Given the description of an element on the screen output the (x, y) to click on. 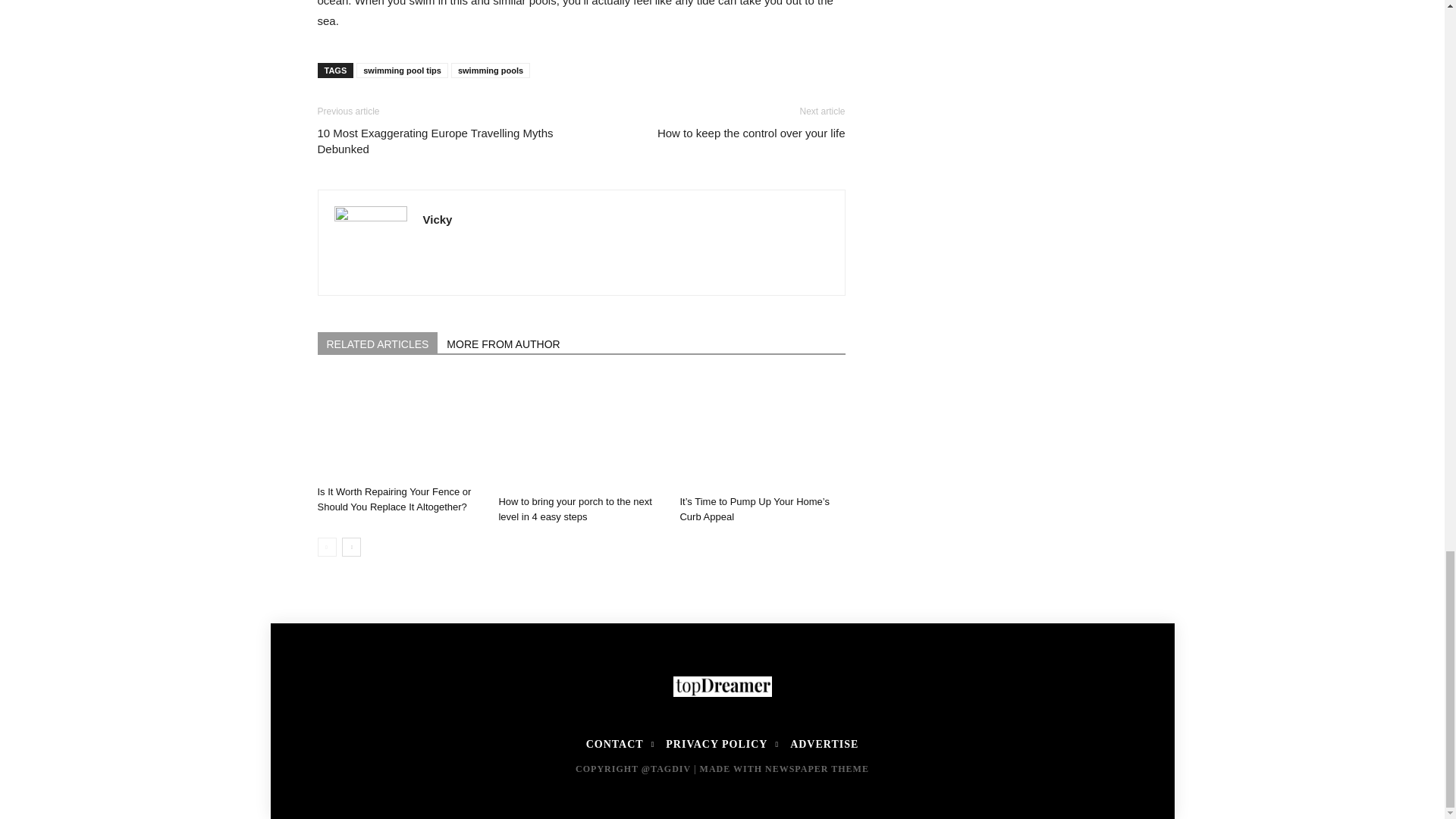
How to bring your porch to the next level in 4 easy steps (580, 431)
How to bring your porch to the next level in 4 easy steps (573, 509)
